Given the description of an element on the screen output the (x, y) to click on. 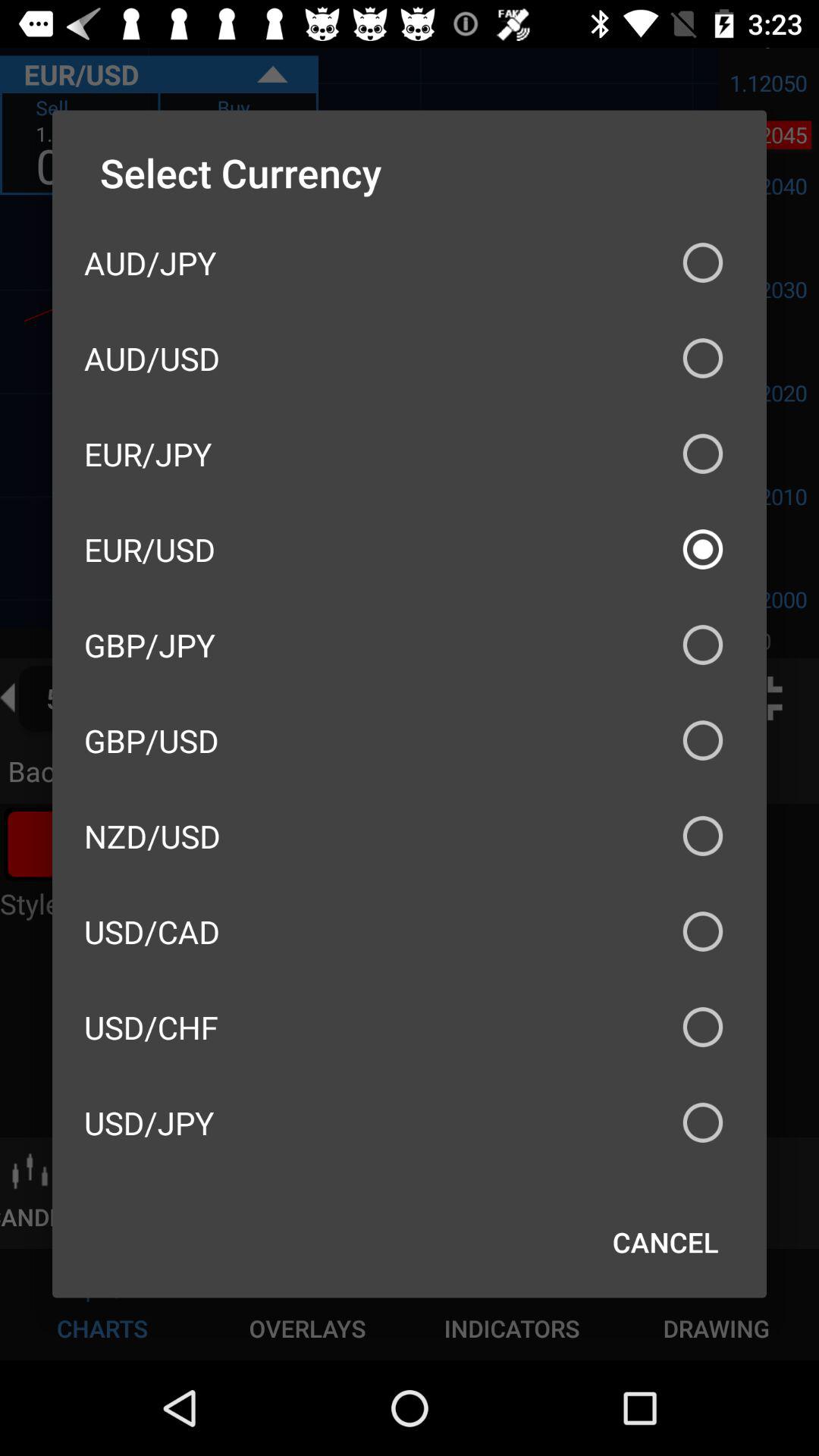
flip to cancel (665, 1241)
